Given the description of an element on the screen output the (x, y) to click on. 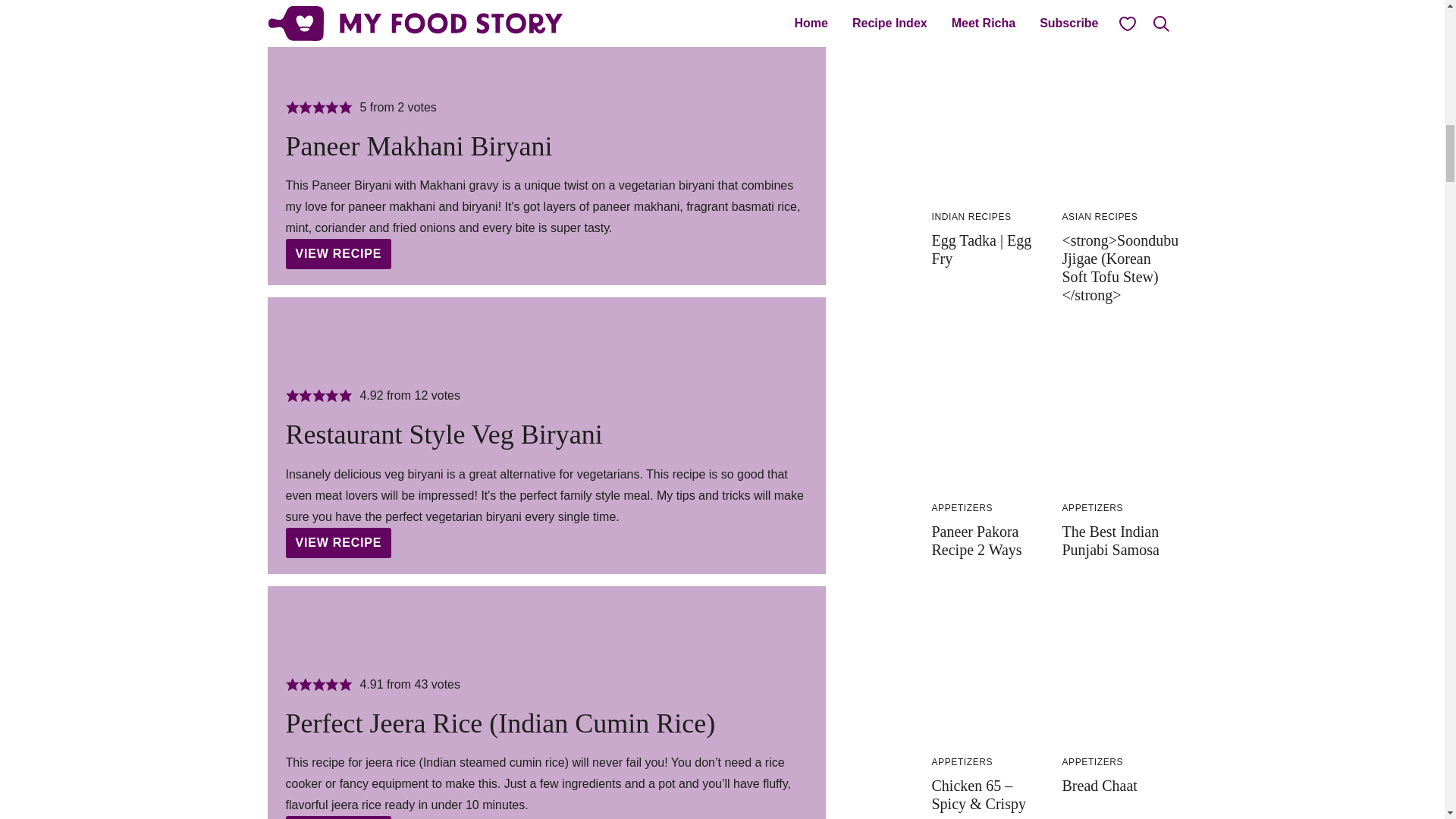
VIEW RECIPE (338, 254)
VIEW RECIPE (338, 542)
VIEW RECIPE (338, 817)
